Given the description of an element on the screen output the (x, y) to click on. 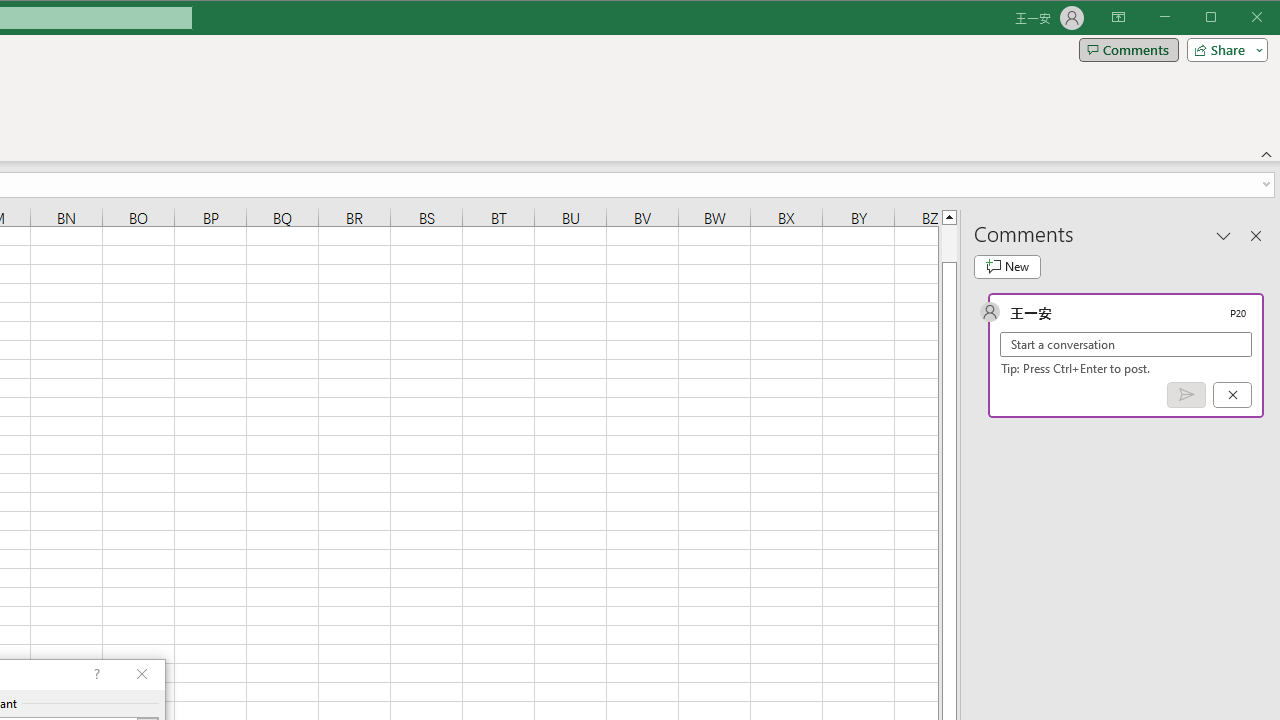
New comment (1007, 266)
